Given the description of an element on the screen output the (x, y) to click on. 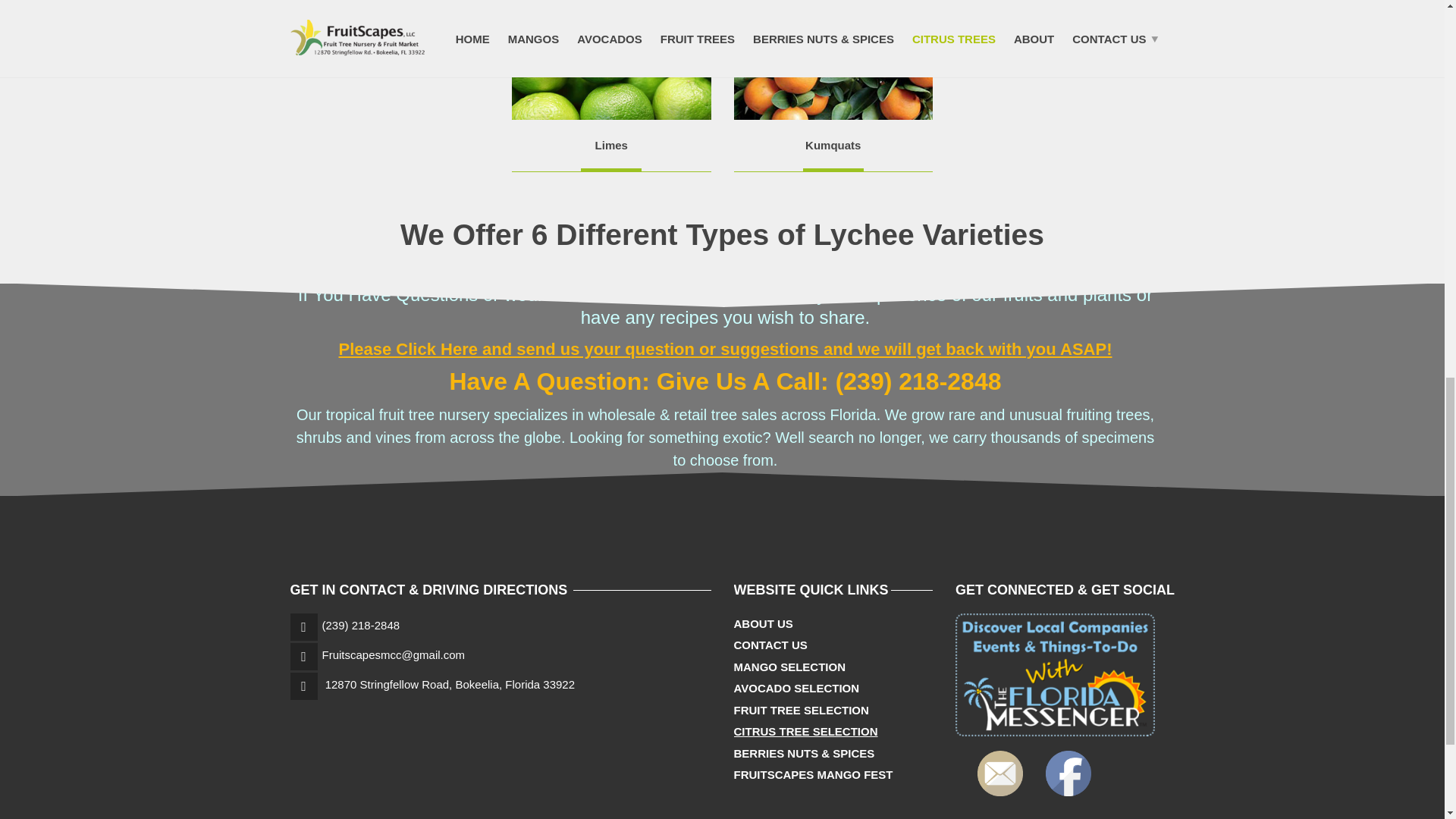
ABOUT US (763, 624)
Kumquats (832, 144)
CONTACT US (770, 645)
Limes (611, 144)
MANGO SELECTION (789, 667)
AVOCADO SELECTION (796, 689)
12870 Stringfellow Road, Bokeelia, Florida 33922 (449, 684)
